Given the description of an element on the screen output the (x, y) to click on. 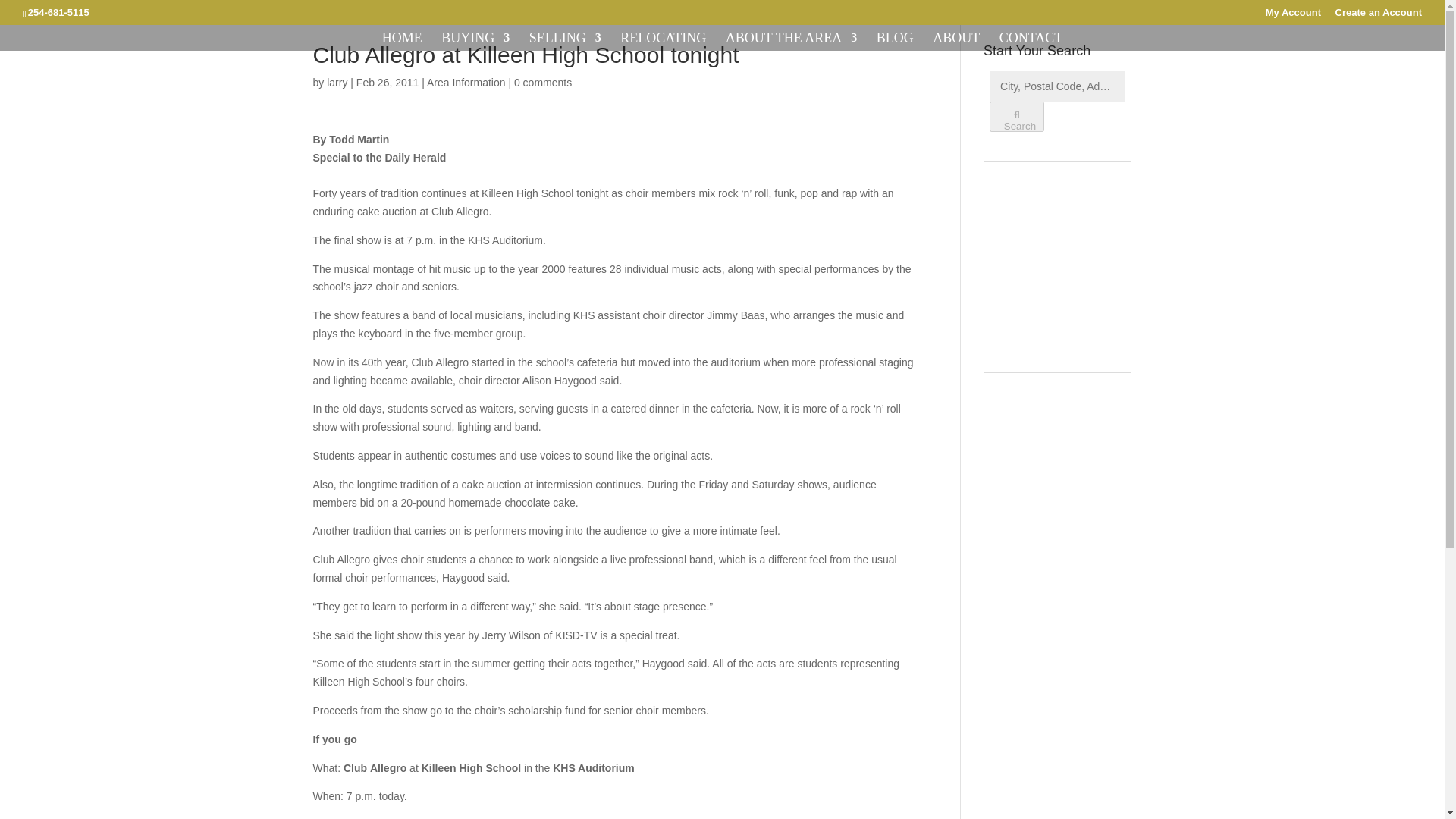
My Account (1292, 16)
HOME (401, 41)
Posts by larry (336, 82)
CONTACT (1030, 41)
ABOUT (956, 41)
ABOUT THE AREA (791, 41)
BUYING (475, 41)
Create an Account (1378, 16)
Area Information (465, 82)
RELOCATING (663, 41)
BLOG (895, 41)
0 comments (542, 82)
larry (336, 82)
Search (1016, 116)
SELLING (565, 41)
